Given the description of an element on the screen output the (x, y) to click on. 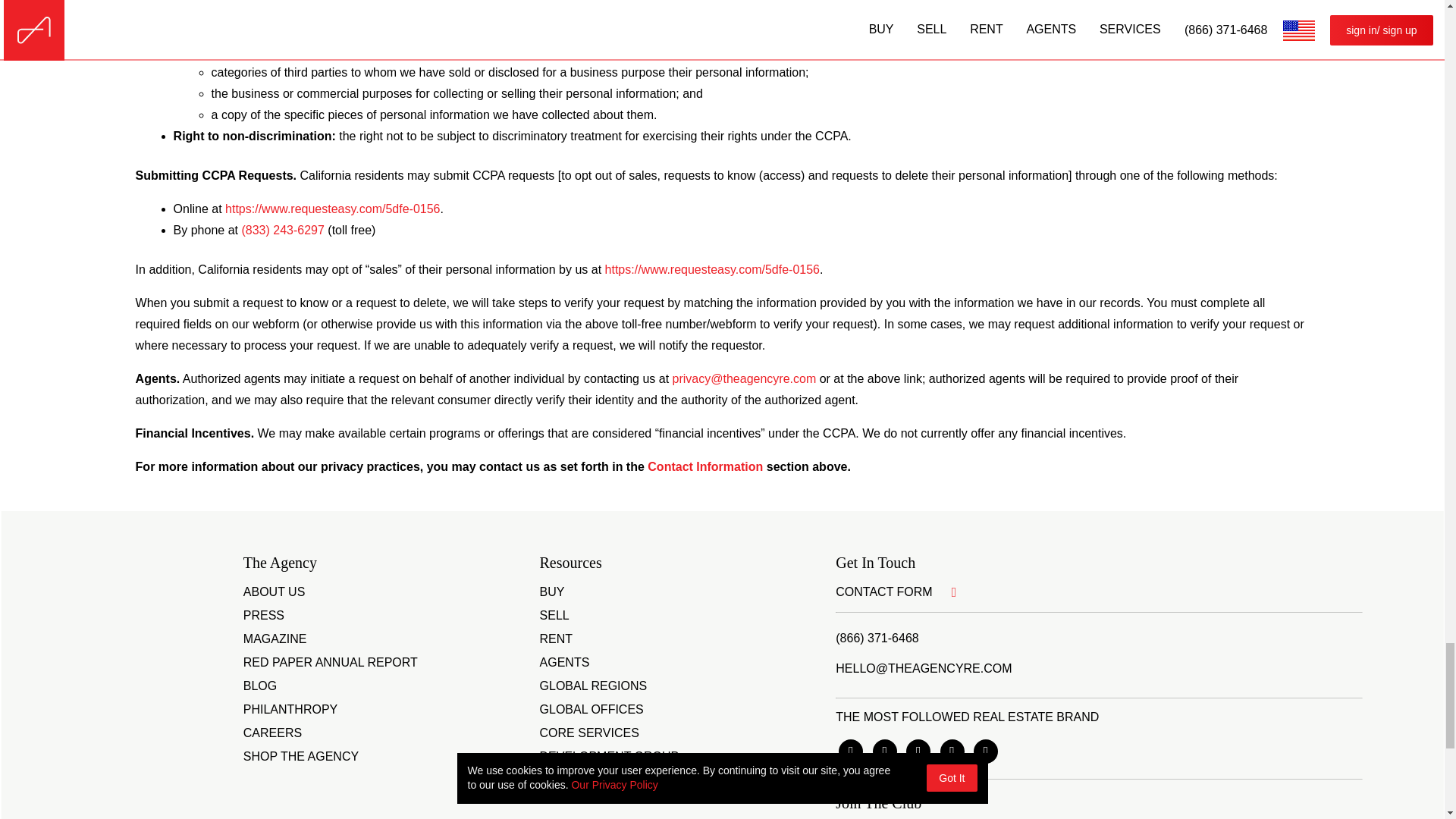
ABOUT US (274, 592)
MAGAZINE (275, 639)
CAREERS (272, 733)
RED PAPER ANNUAL REPORT (330, 663)
Contact Information (704, 467)
SHOP THE AGENCY (300, 757)
BLOG (259, 686)
BUY (552, 592)
PHILANTHROPY (290, 709)
PRESS (263, 616)
